Given the description of an element on the screen output the (x, y) to click on. 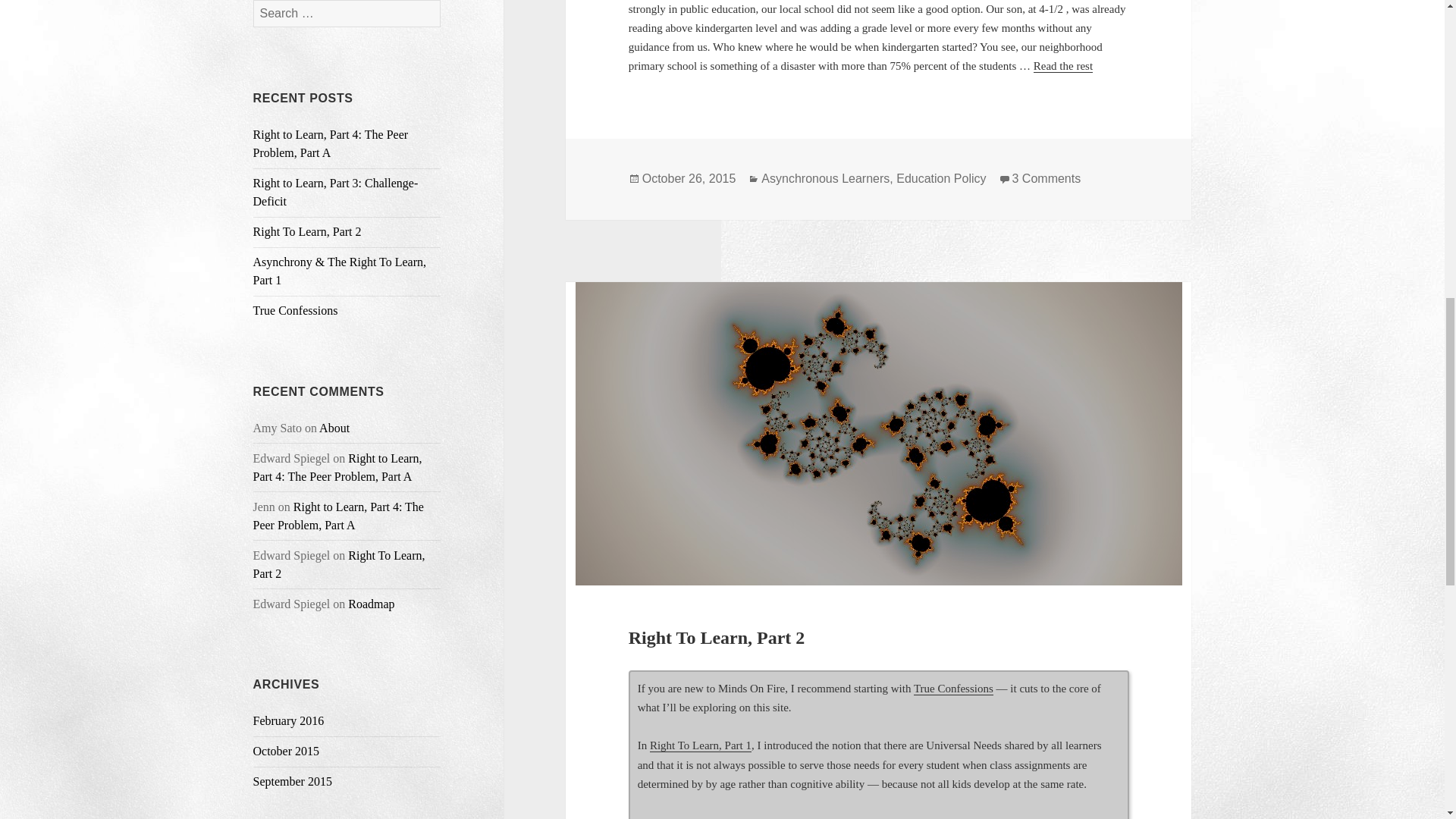
Right to Learn, Part 4: The Peer Problem, Part A (337, 467)
Right to Learn, Part 3: Challenge-Deficit (336, 192)
September 2015 (292, 780)
Roadmap (370, 603)
True Confessions (295, 309)
February 2016 (288, 720)
Right to Learn, Part 4: The Peer Problem, Part A (331, 142)
Right To Learn, Part 2 (339, 563)
About (333, 427)
Right to Learn, Part 4: The Peer Problem, Part A (338, 515)
